Given the description of an element on the screen output the (x, y) to click on. 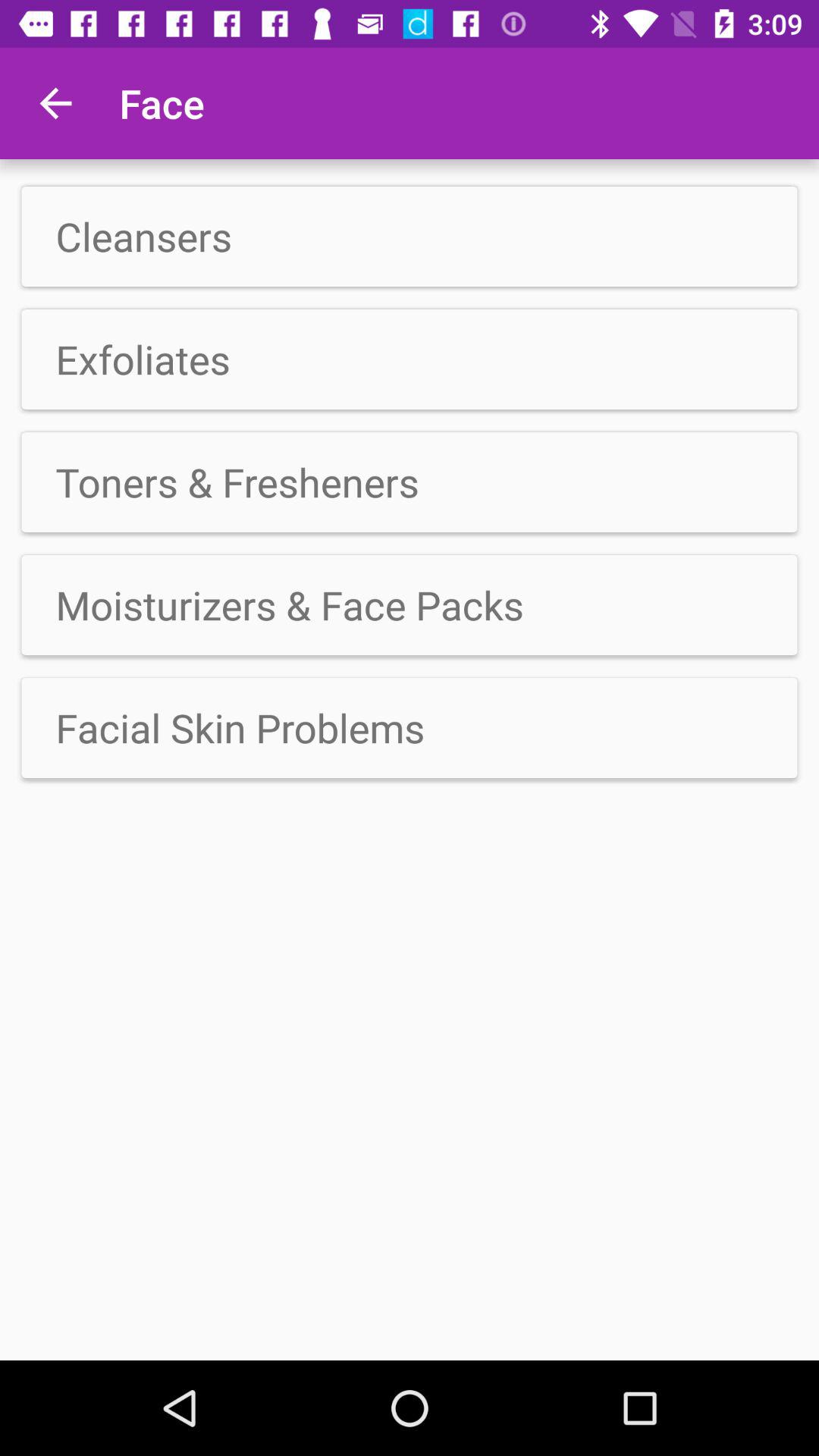
swipe to the facial skin problems icon (409, 727)
